Given the description of an element on the screen output the (x, y) to click on. 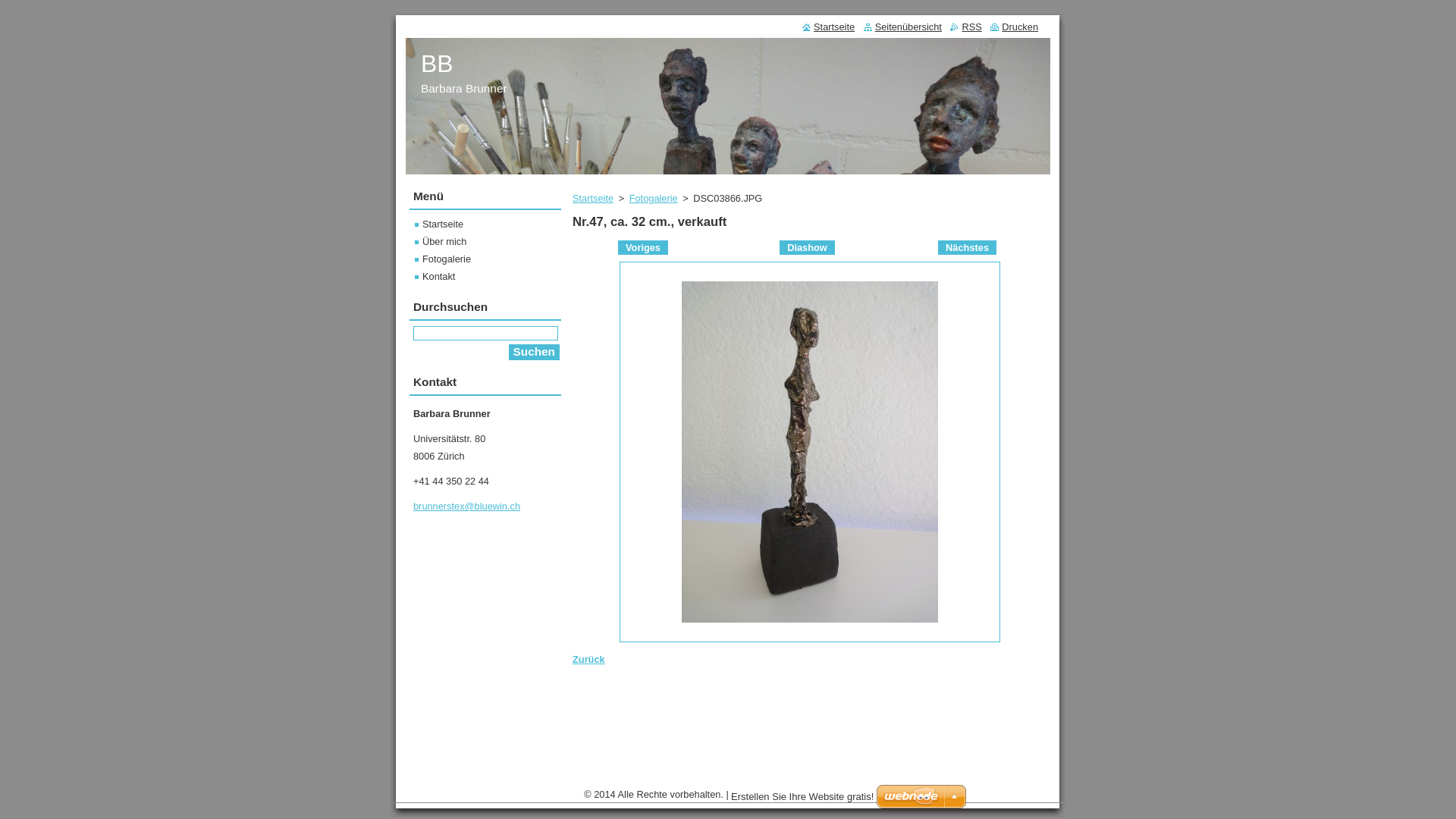
Startseite Element type: text (592, 197)
brunnerstex@bluewin.ch Element type: text (466, 505)
Kontakt Element type: text (434, 276)
Drucken Element type: text (1014, 26)
Startseite Element type: text (828, 26)
Suchen Element type: text (533, 352)
Diashow Element type: text (806, 247)
Fotogalerie Element type: text (442, 258)
Fotogalerie Element type: text (653, 197)
BB Element type: text (436, 63)
Erstellen Sie Ihre Website gratis! Element type: text (802, 796)
RSS Element type: text (965, 26)
Voriges Element type: text (643, 247)
Startseite Element type: text (438, 223)
